Given the description of an element on the screen output the (x, y) to click on. 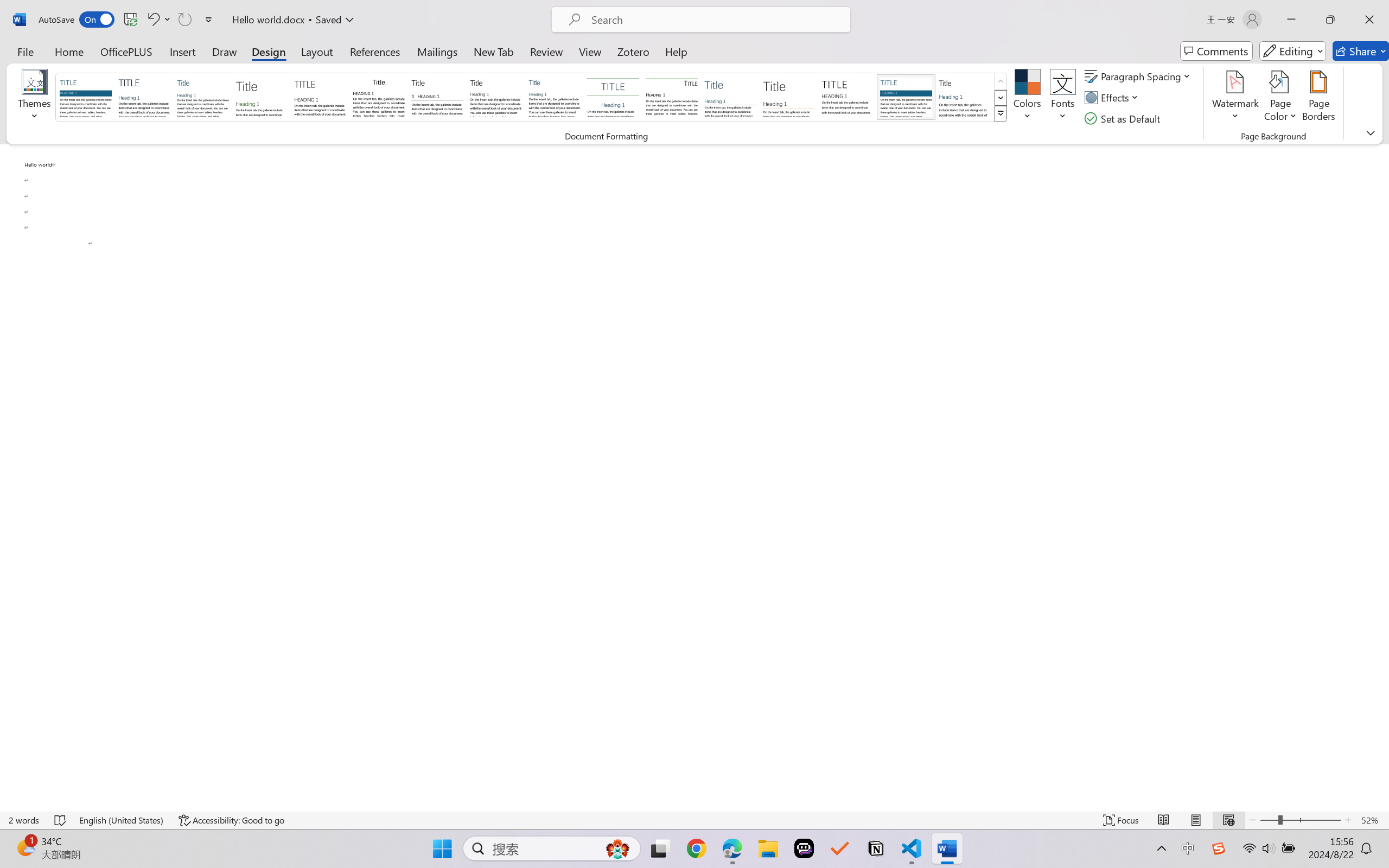
Customize Quick Access Toolbar (208, 19)
Quick Access Toolbar (127, 19)
Row Down (1000, 97)
Lines (Distinctive) (671, 96)
Row up (1000, 81)
Centered (612, 96)
Print Layout (1196, 819)
Spelling and Grammar Check No Errors (60, 819)
Zoom Out (1268, 819)
Undo Apply Quick Style Set (158, 19)
Restore Down (1330, 19)
Draw (224, 51)
Black & White (Numbered) (437, 96)
